Given the description of an element on the screen output the (x, y) to click on. 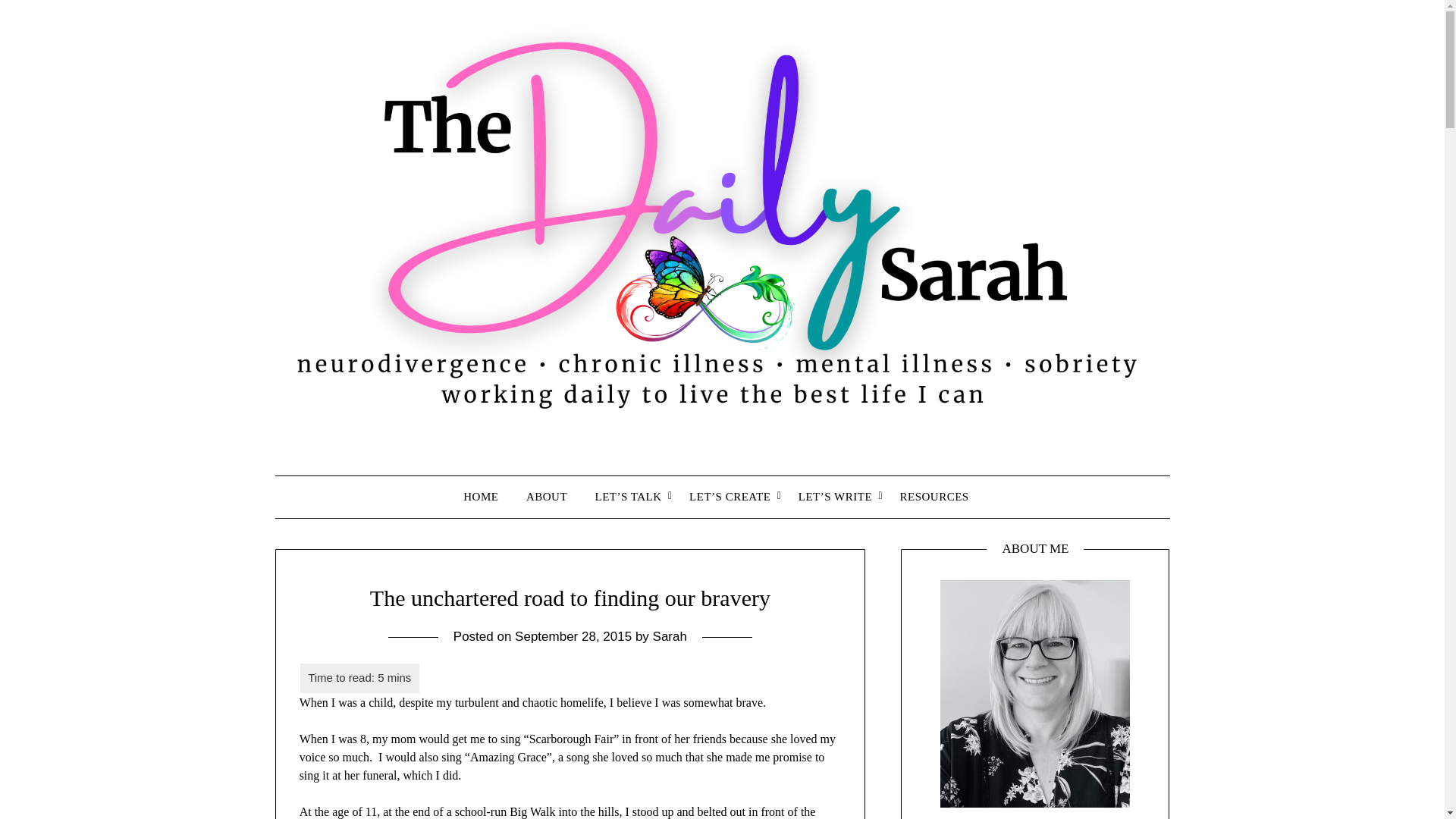
September 28, 2015 (573, 636)
HOME (487, 495)
RESOURCES (934, 495)
ABOUT (546, 495)
